Given the description of an element on the screen output the (x, y) to click on. 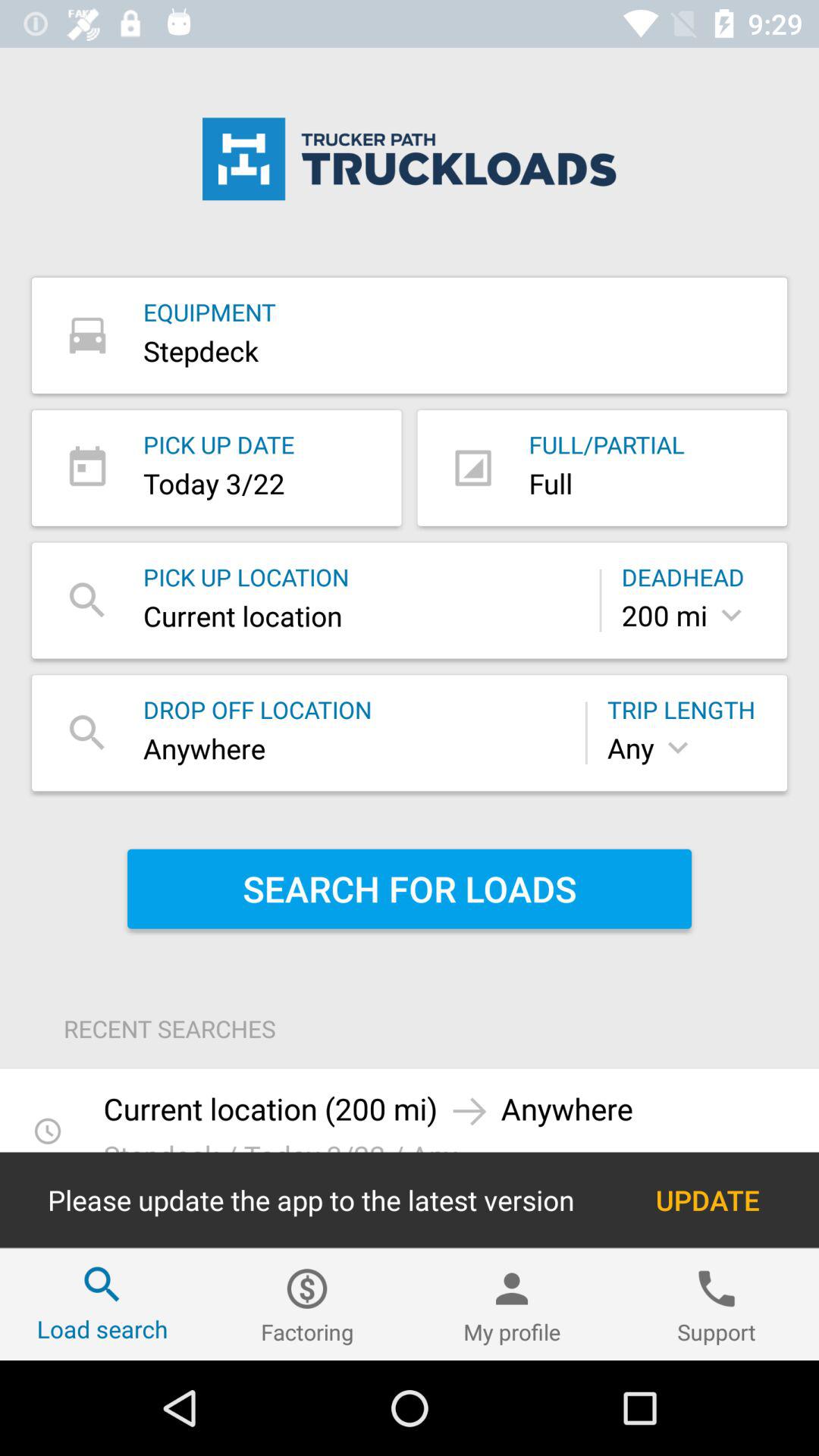
jump to my profile item (511, 1304)
